Given the description of an element on the screen output the (x, y) to click on. 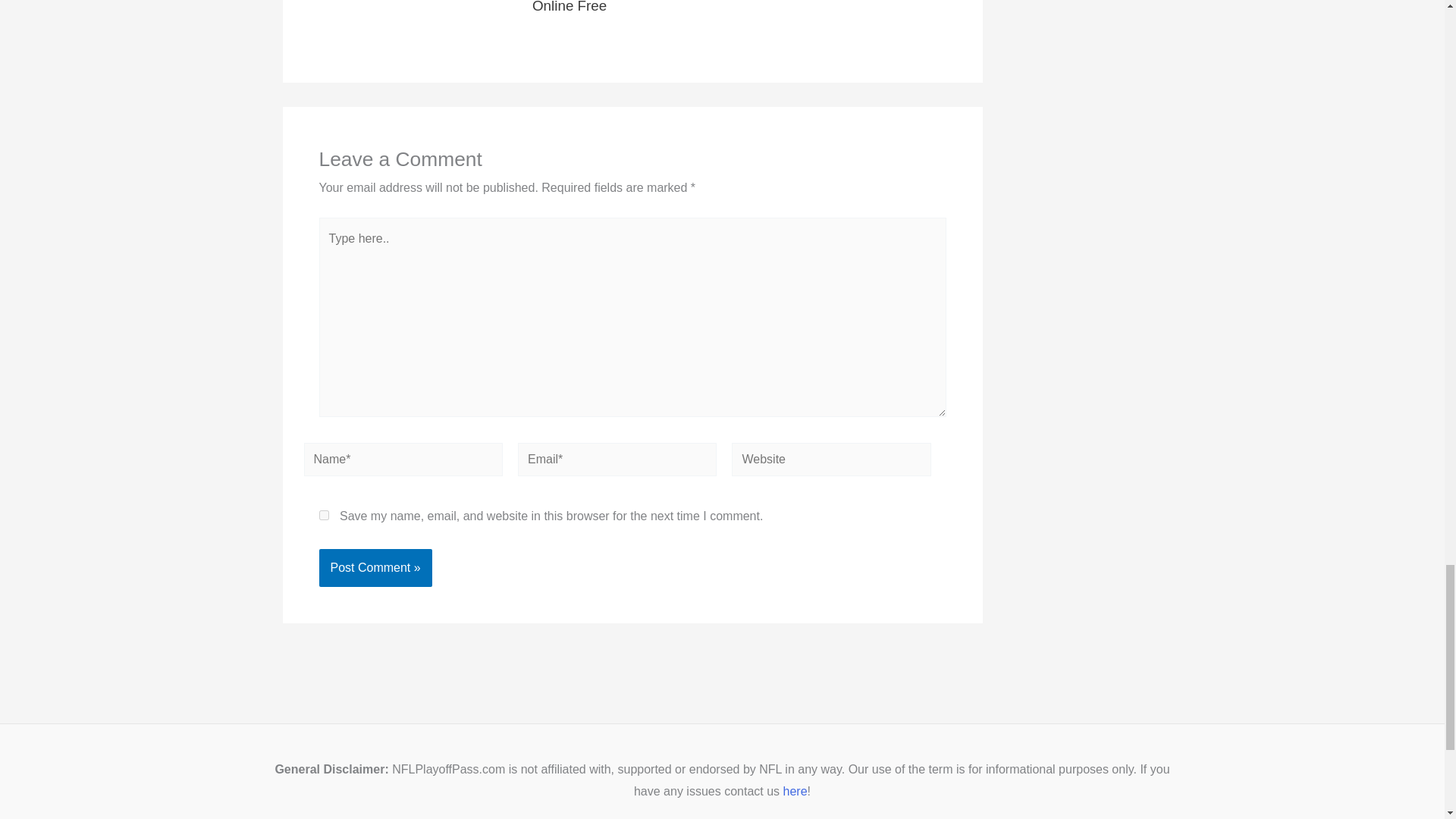
yes (323, 515)
